Given the description of an element on the screen output the (x, y) to click on. 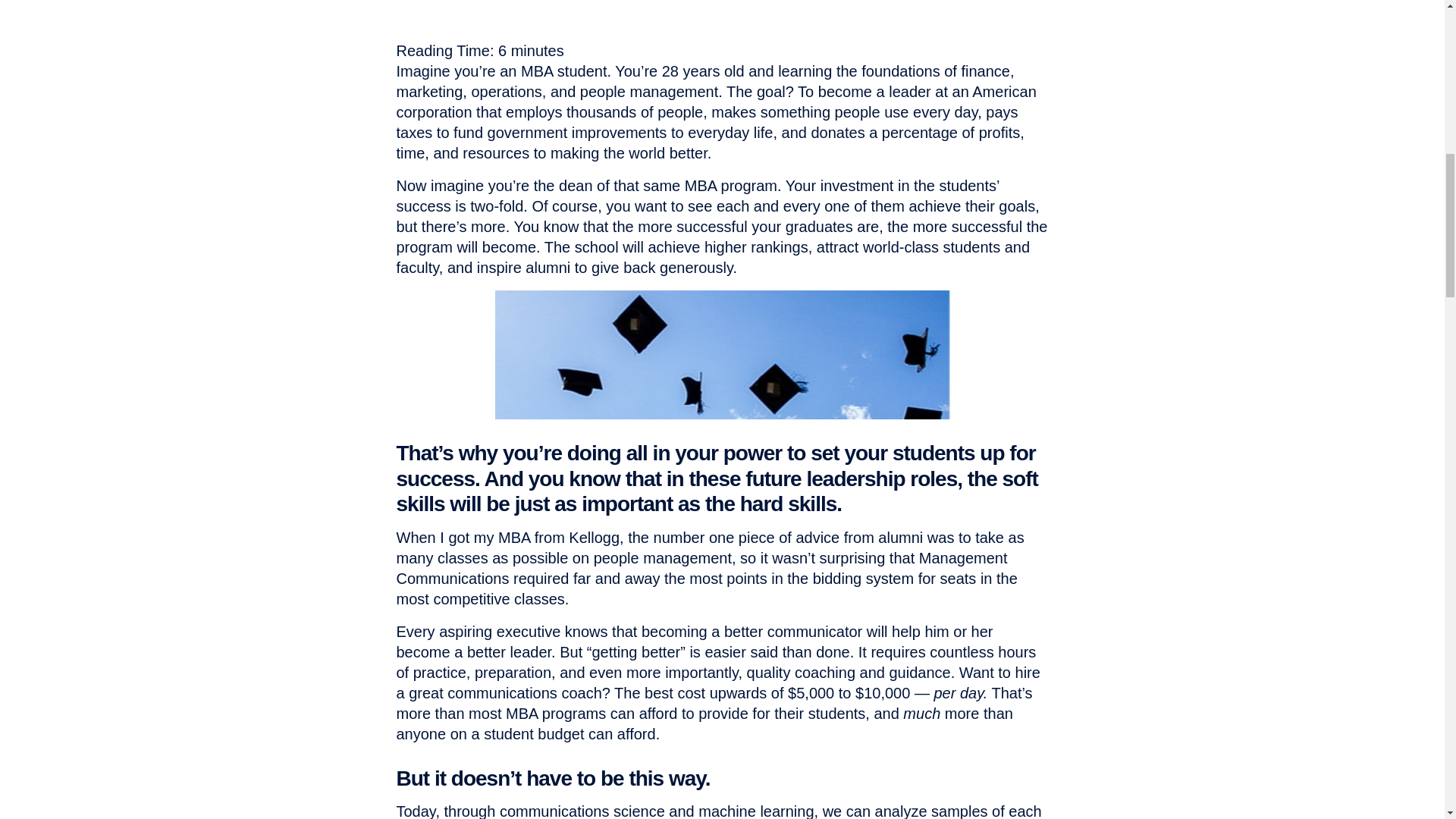
graduation caps 2.jpg (722, 354)
